Given the description of an element on the screen output the (x, y) to click on. 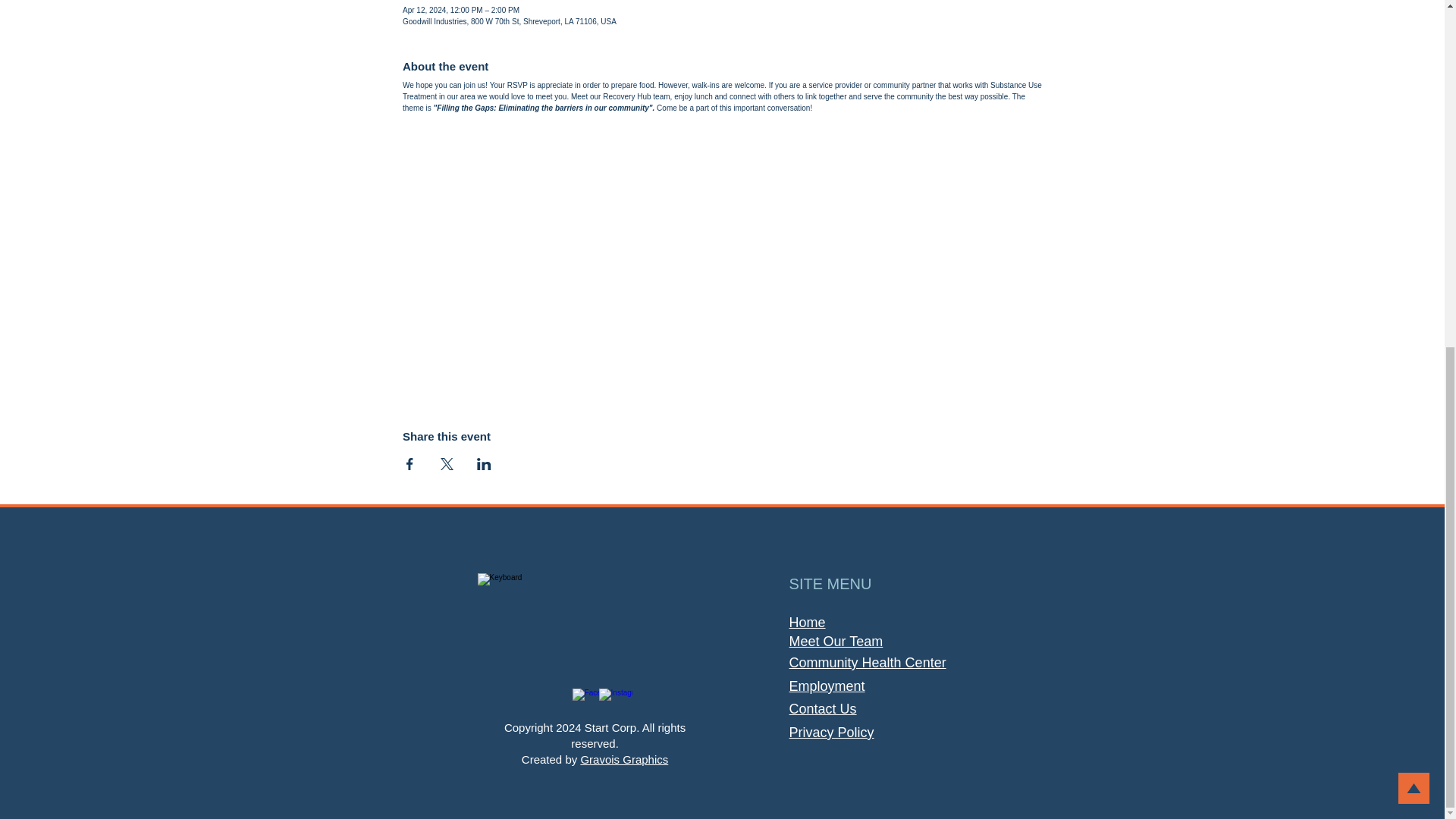
Contact Us (823, 708)
Employment (826, 685)
Gravois Graphics (623, 758)
Privacy Policy (832, 732)
Community Health Center (867, 662)
Home (807, 622)
Meet Our Team (836, 641)
